Given the description of an element on the screen output the (x, y) to click on. 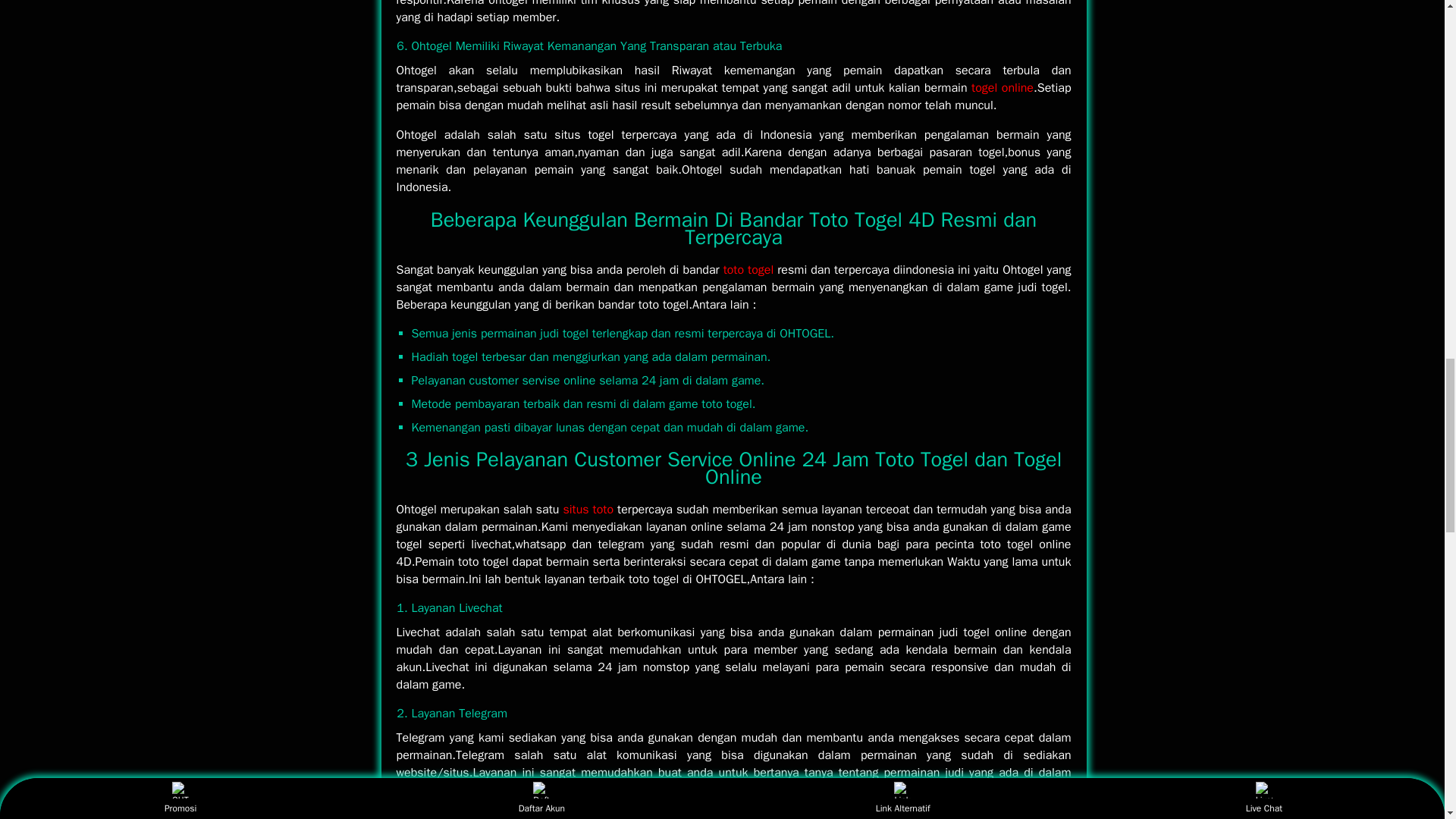
OHTOGEL (587, 509)
OHTOGEL (748, 269)
toto togel (748, 269)
togel online (1002, 87)
OHTOGEL (1002, 87)
situs toto (587, 509)
